Given the description of an element on the screen output the (x, y) to click on. 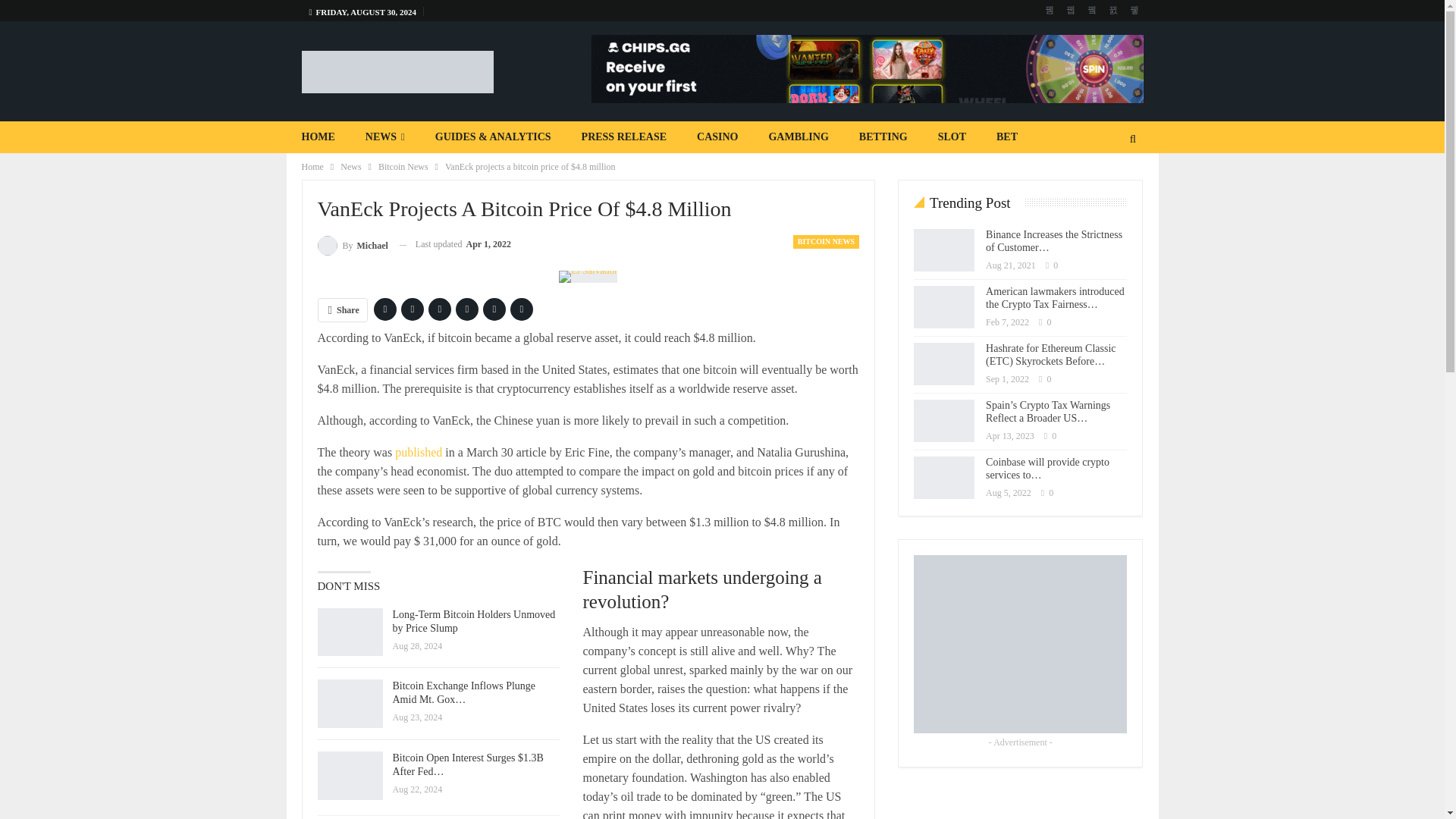
By Michael (352, 244)
Bitcoin News (403, 166)
CASINO (716, 137)
BET (1006, 137)
NEWS (385, 137)
Long-Term Bitcoin Holders Unmoved by Price Slump (349, 632)
Home (312, 166)
EARN BITCOIN (341, 169)
BITCOIN NEWS (826, 241)
EXCHANGE (521, 169)
